Given the description of an element on the screen output the (x, y) to click on. 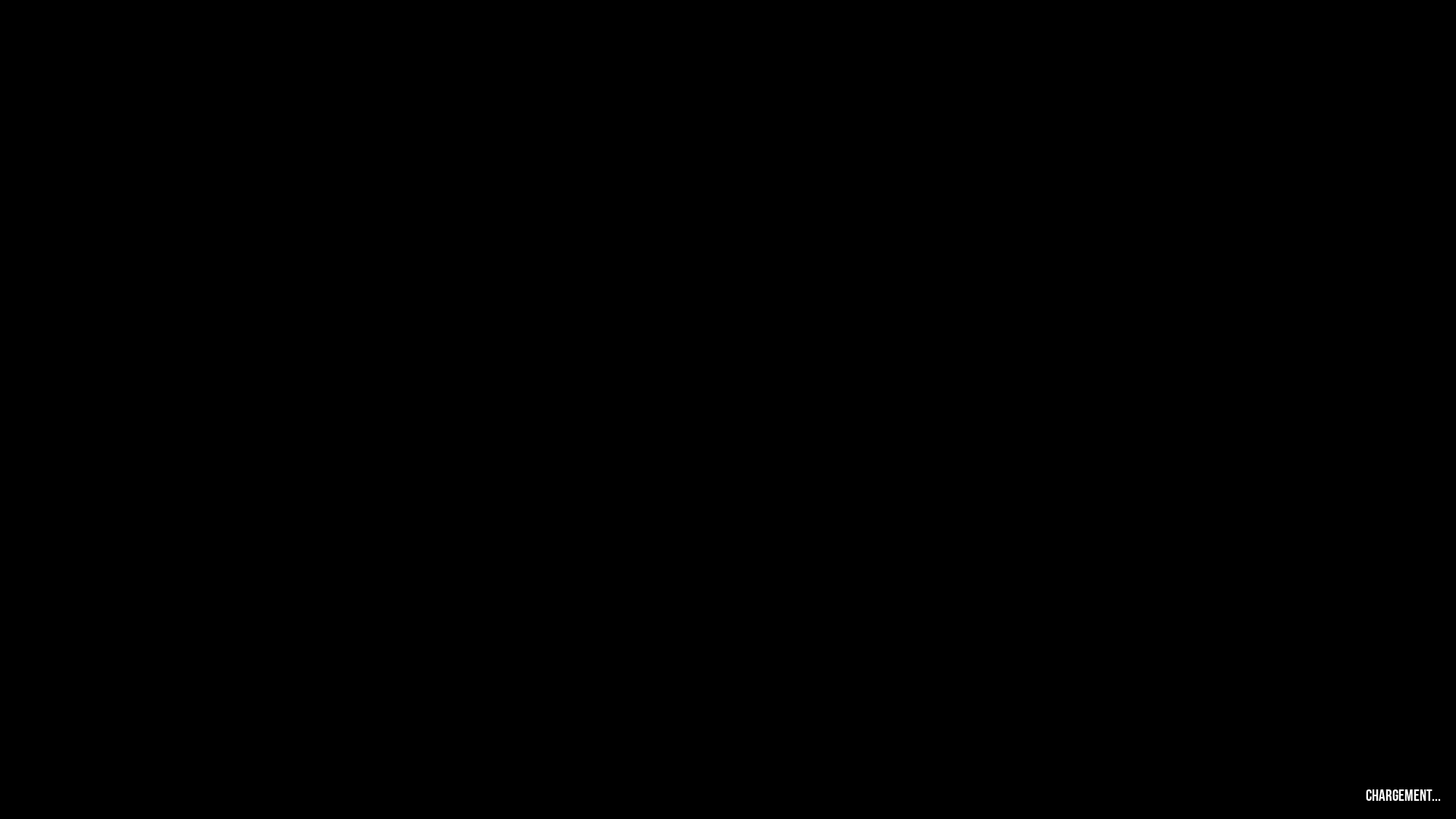
Spectacle du Nouvel An Element type: text (44, 26)
